Given the description of an element on the screen output the (x, y) to click on. 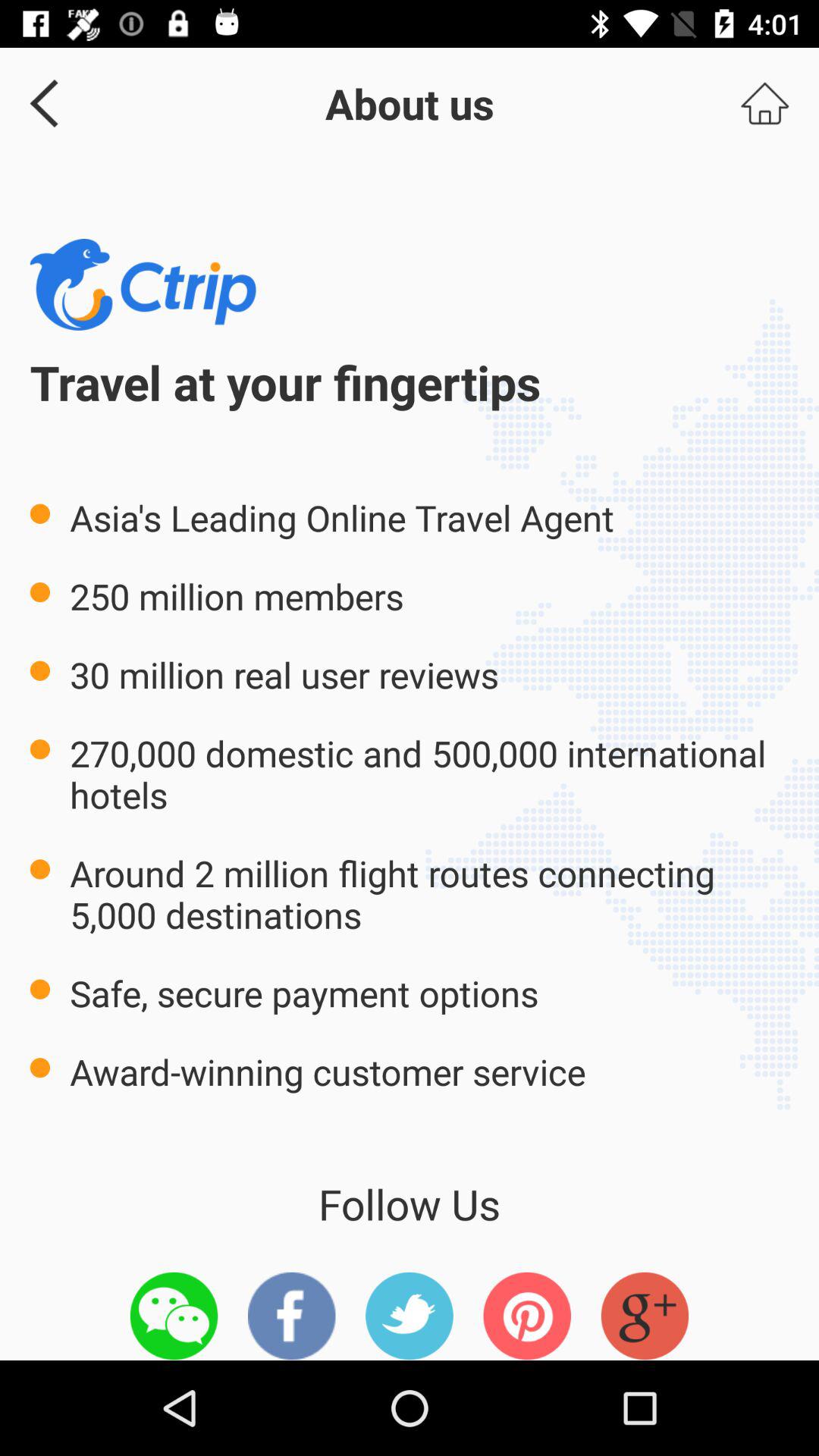
follow us on whatsapp (173, 1315)
